Given the description of an element on the screen output the (x, y) to click on. 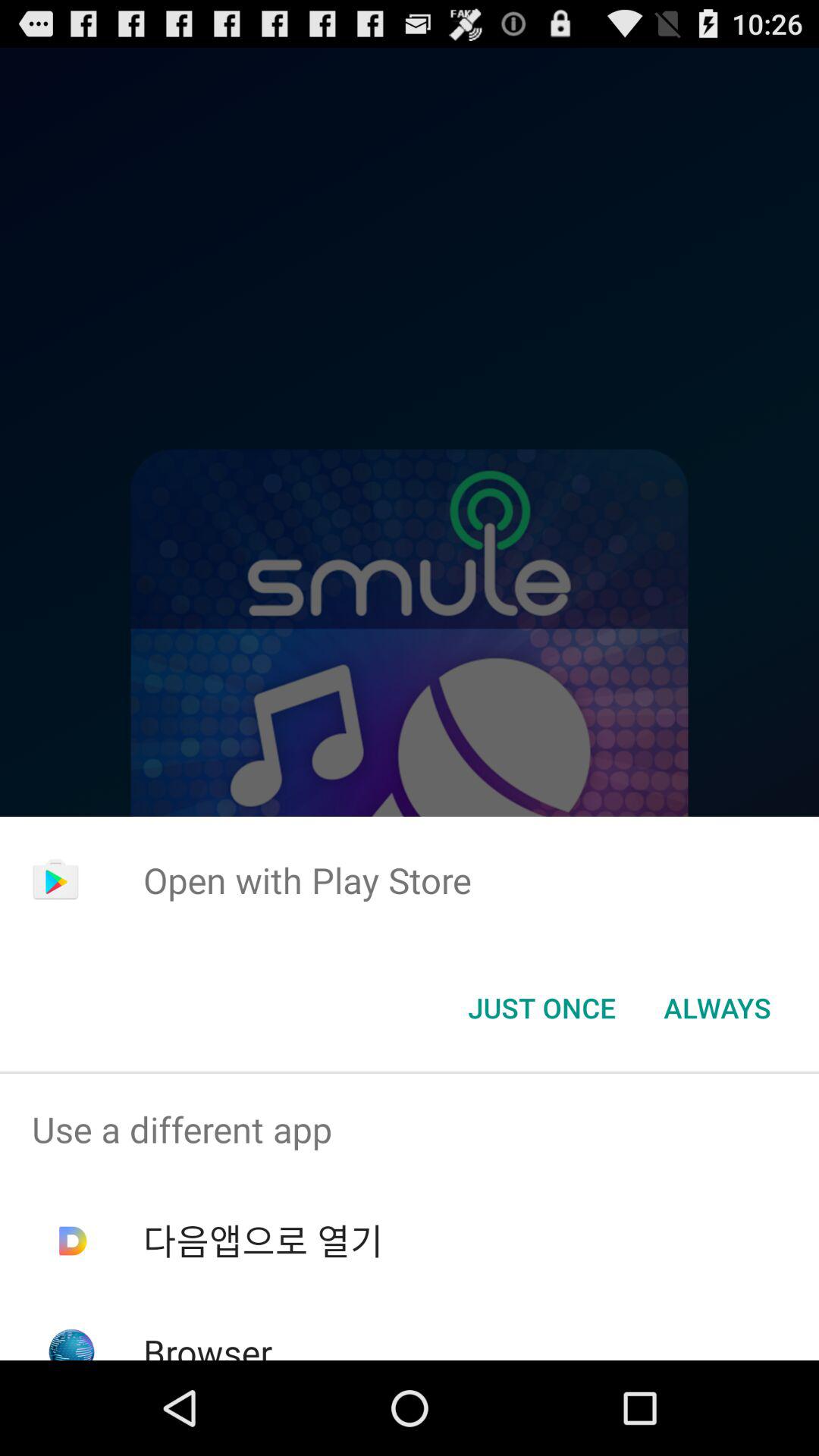
click the use a different item (409, 1129)
